Given the description of an element on the screen output the (x, y) to click on. 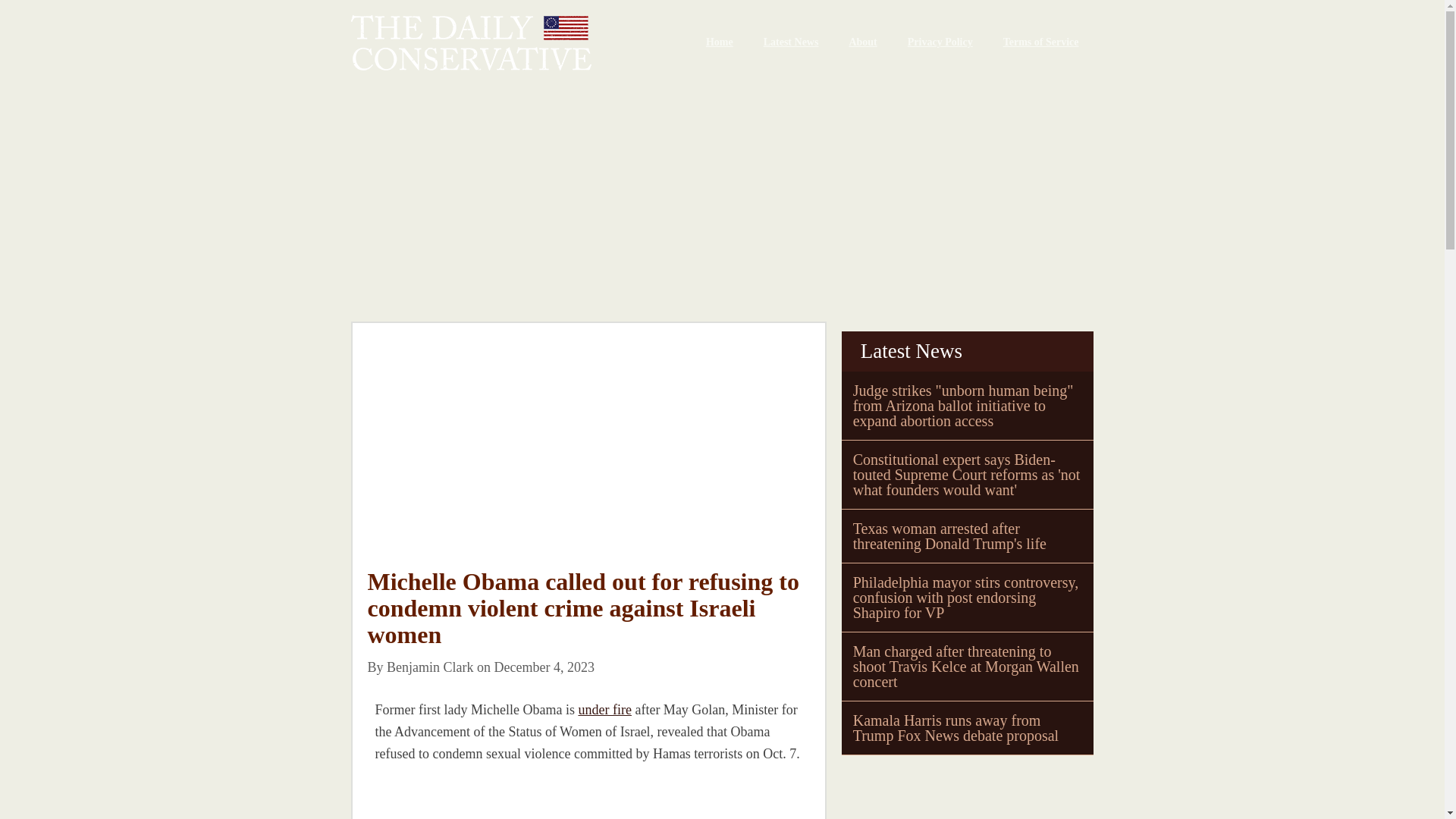
Kamala Harris runs away from Trump Fox News debate proposal (955, 727)
Texas woman arrested after threatening Donald Trump's life (949, 536)
Advertisement (954, 790)
under fire (604, 709)
Home (719, 42)
About (861, 42)
Privacy Policy (940, 42)
Latest News (791, 42)
Advertisement (480, 798)
Advertisement (587, 456)
